Given the description of an element on the screen output the (x, y) to click on. 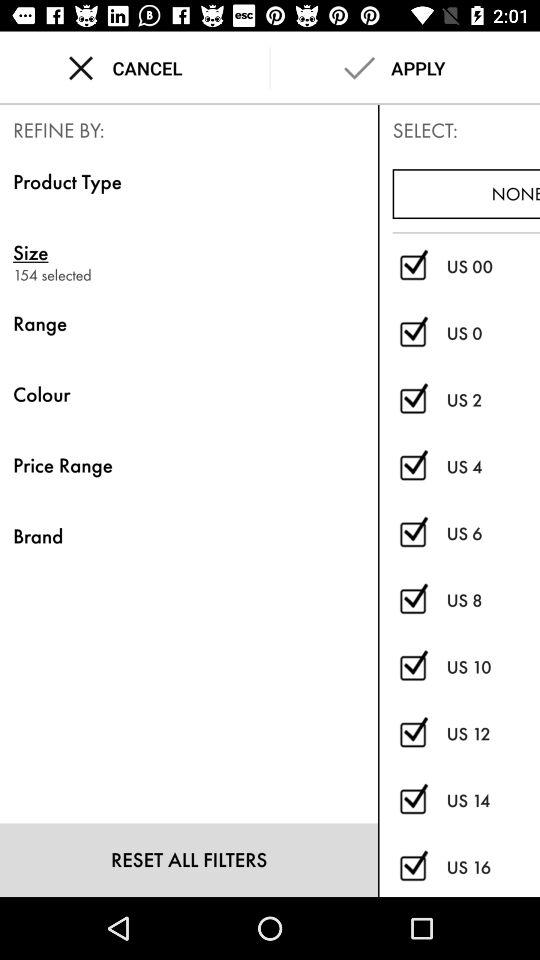
a price range you want to pay (412, 734)
